Given the description of an element on the screen output the (x, y) to click on. 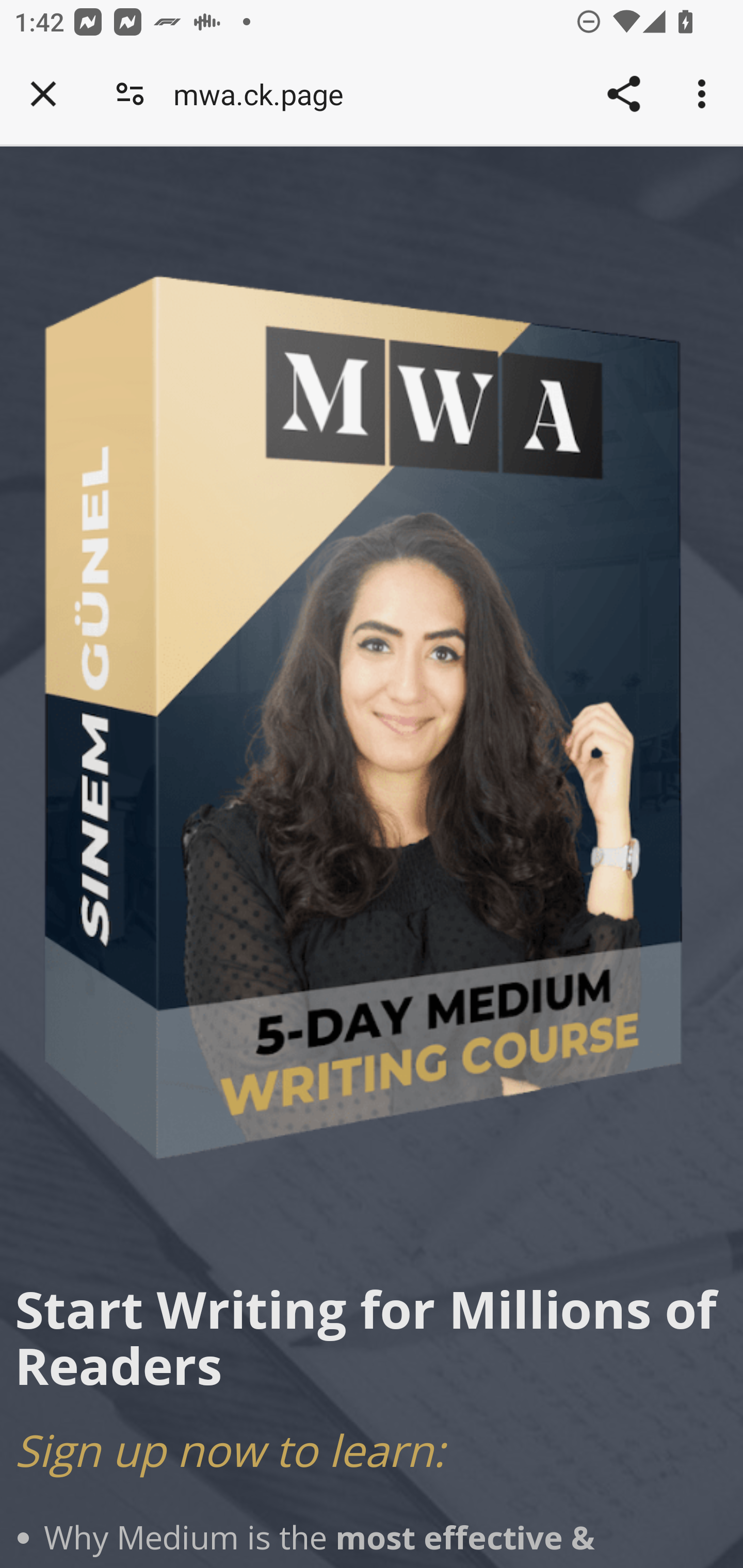
Close tab (43, 93)
Share (623, 93)
Customize and control Google Chrome (705, 93)
Connection is secure (129, 93)
mwa.ck.page (265, 93)
